Given the description of an element on the screen output the (x, y) to click on. 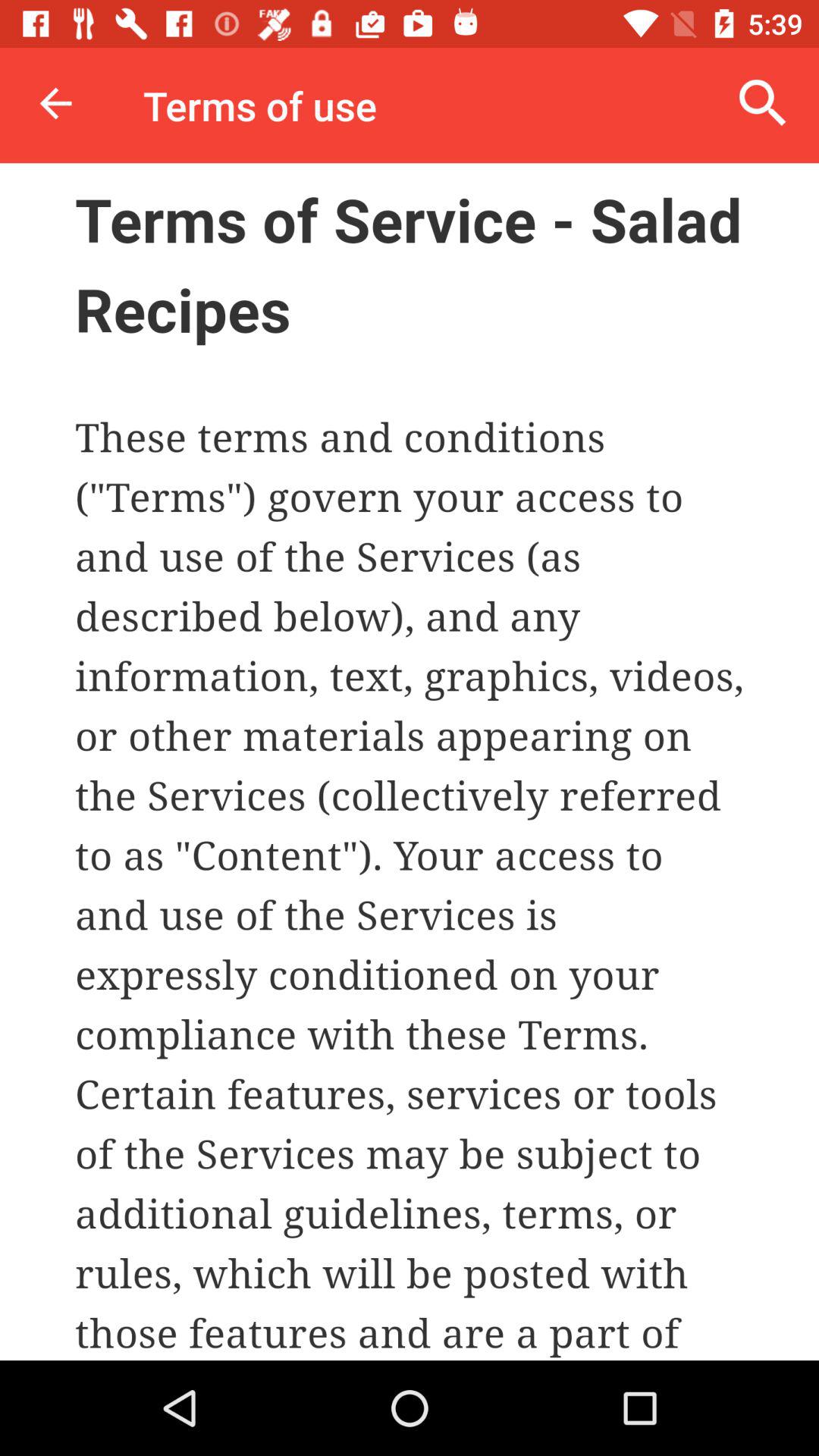
main page (409, 761)
